Given the description of an element on the screen output the (x, y) to click on. 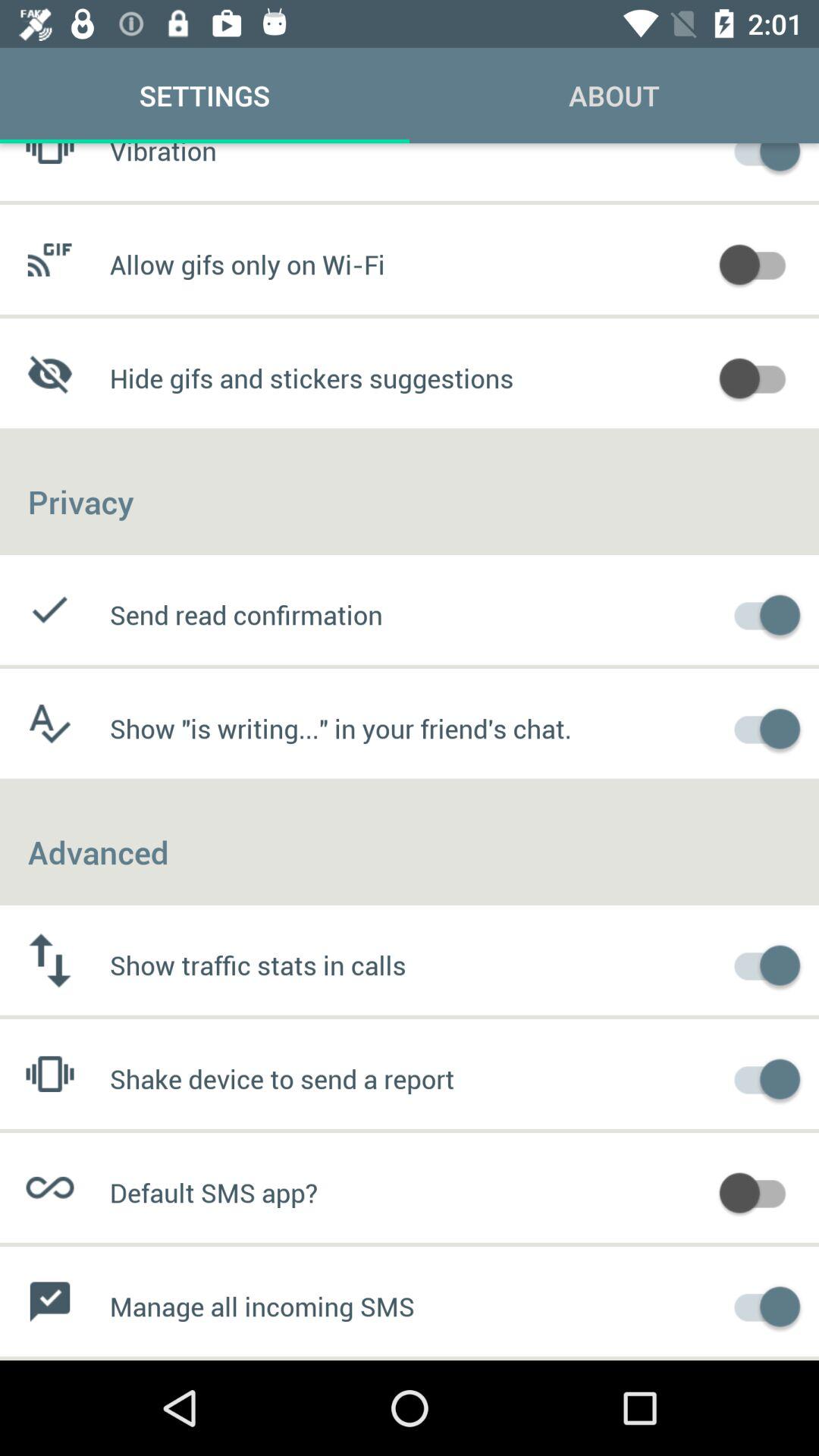
toggle suggestions on/off (759, 376)
